Given the description of an element on the screen output the (x, y) to click on. 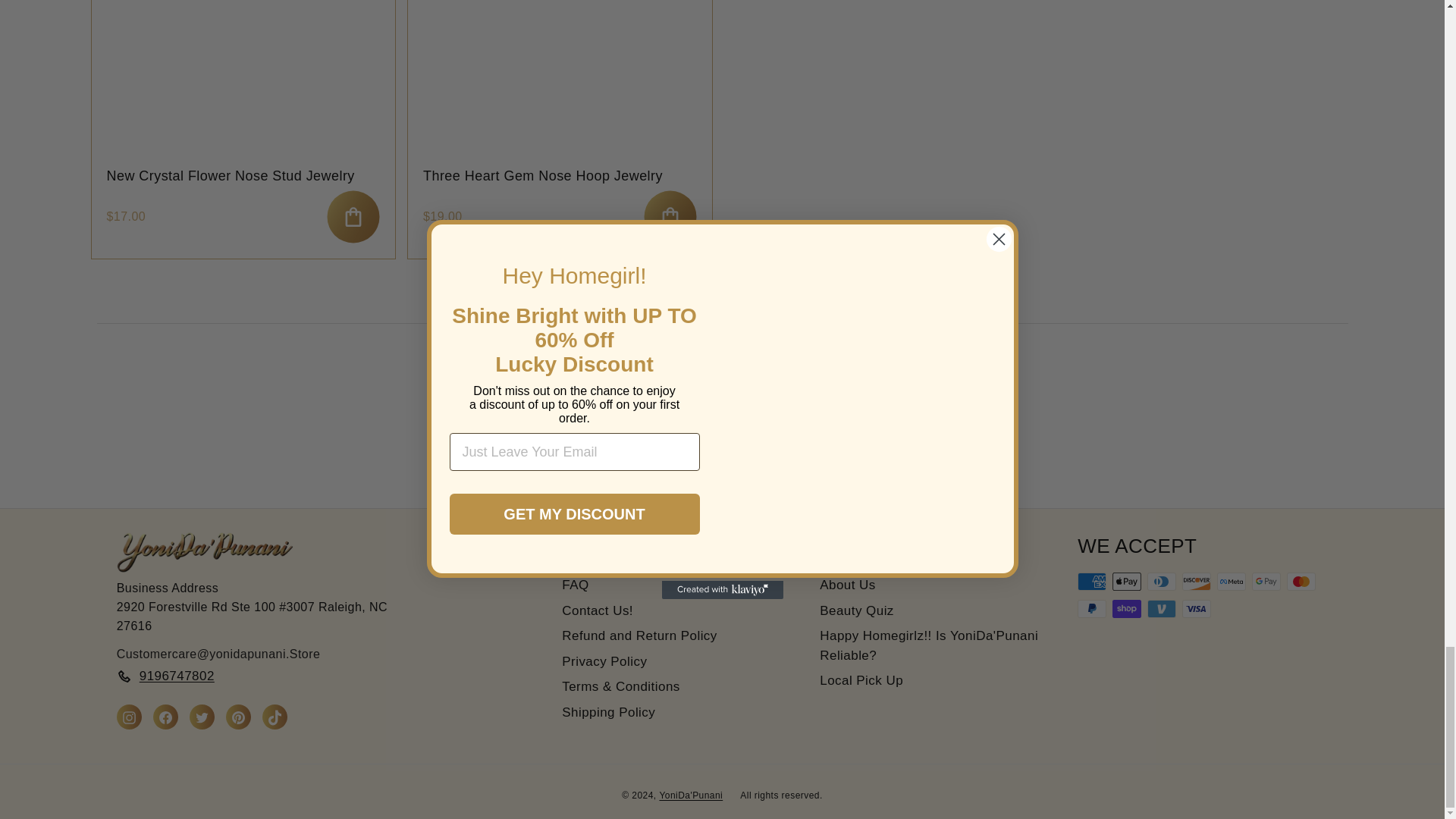
Add to cart (353, 216)
YoniDa'Punani on Pinterest (237, 716)
YoniDa'Punani on TikTok (274, 716)
YoniDa'Punani on Facebook (164, 716)
Add to cart (669, 216)
YoniDa'Punani on Instagram (128, 716)
YoniDa'Punani on Twitter (201, 716)
